Given the description of an element on the screen output the (x, y) to click on. 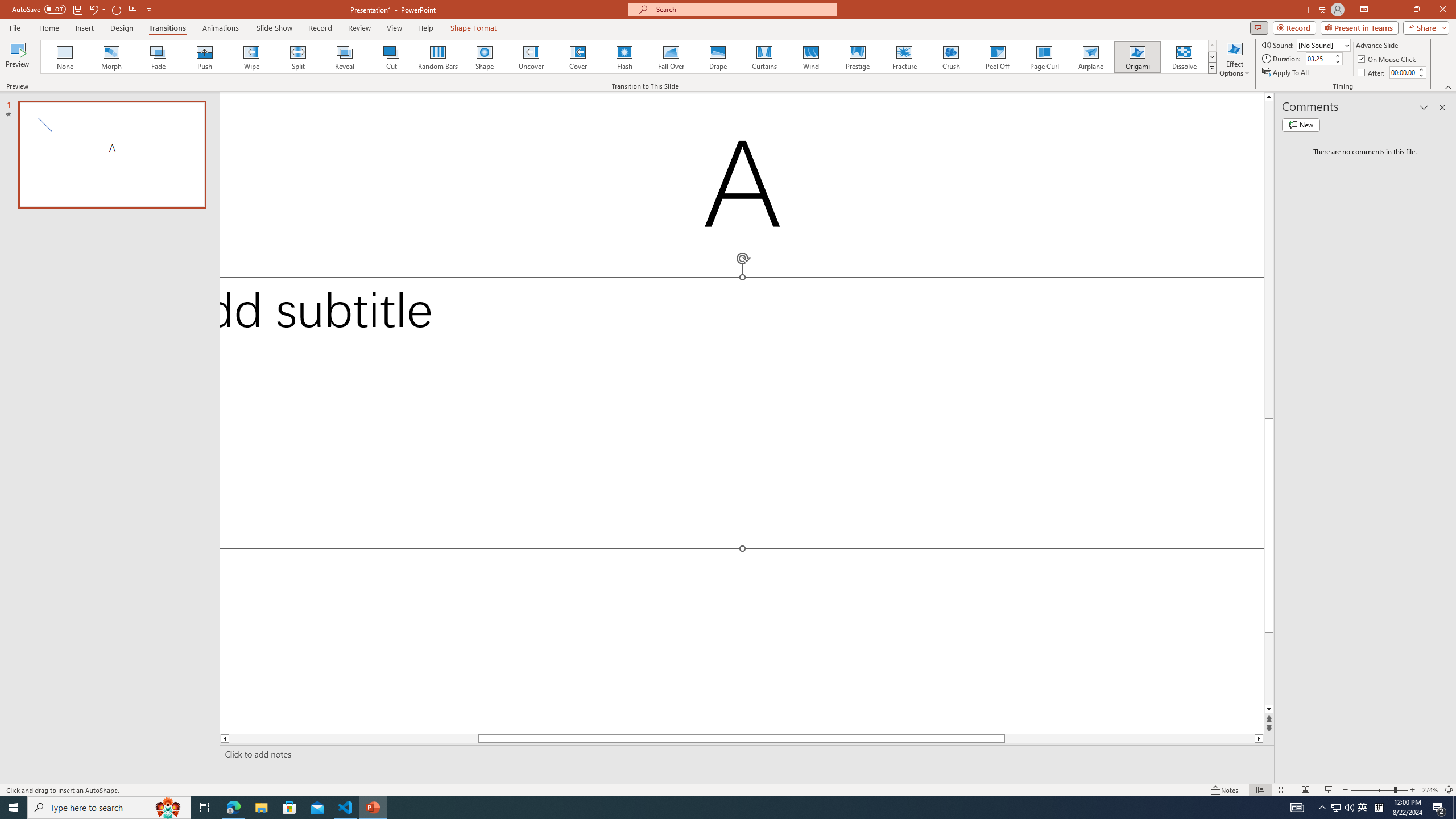
Flash (624, 56)
Transition Effects (1212, 67)
Fade (158, 56)
Morph (111, 56)
Random Bars (437, 56)
